Given the description of an element on the screen output the (x, y) to click on. 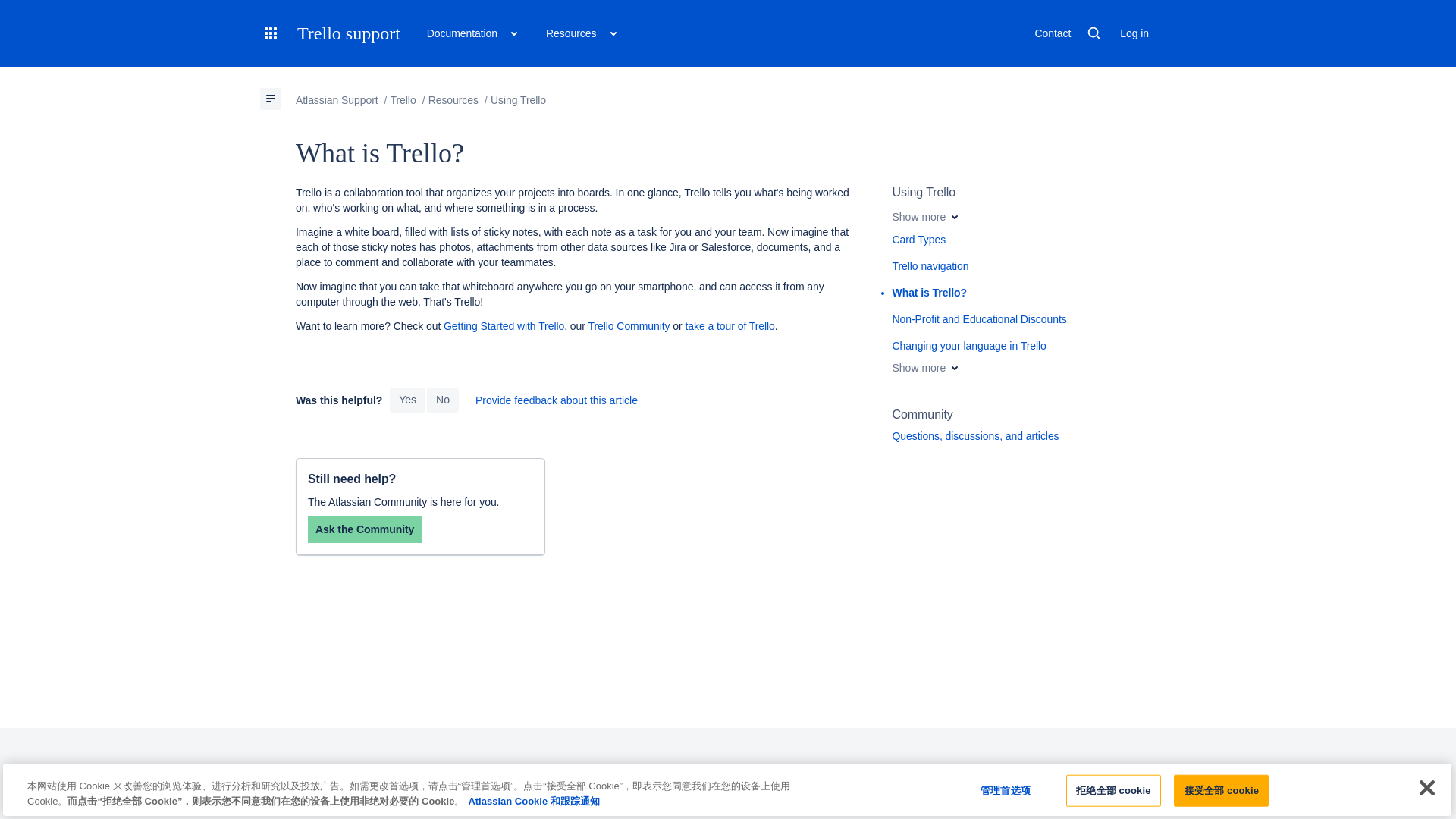
Contact (1052, 33)
Log in (1134, 33)
Trello support (348, 33)
